Given the description of an element on the screen output the (x, y) to click on. 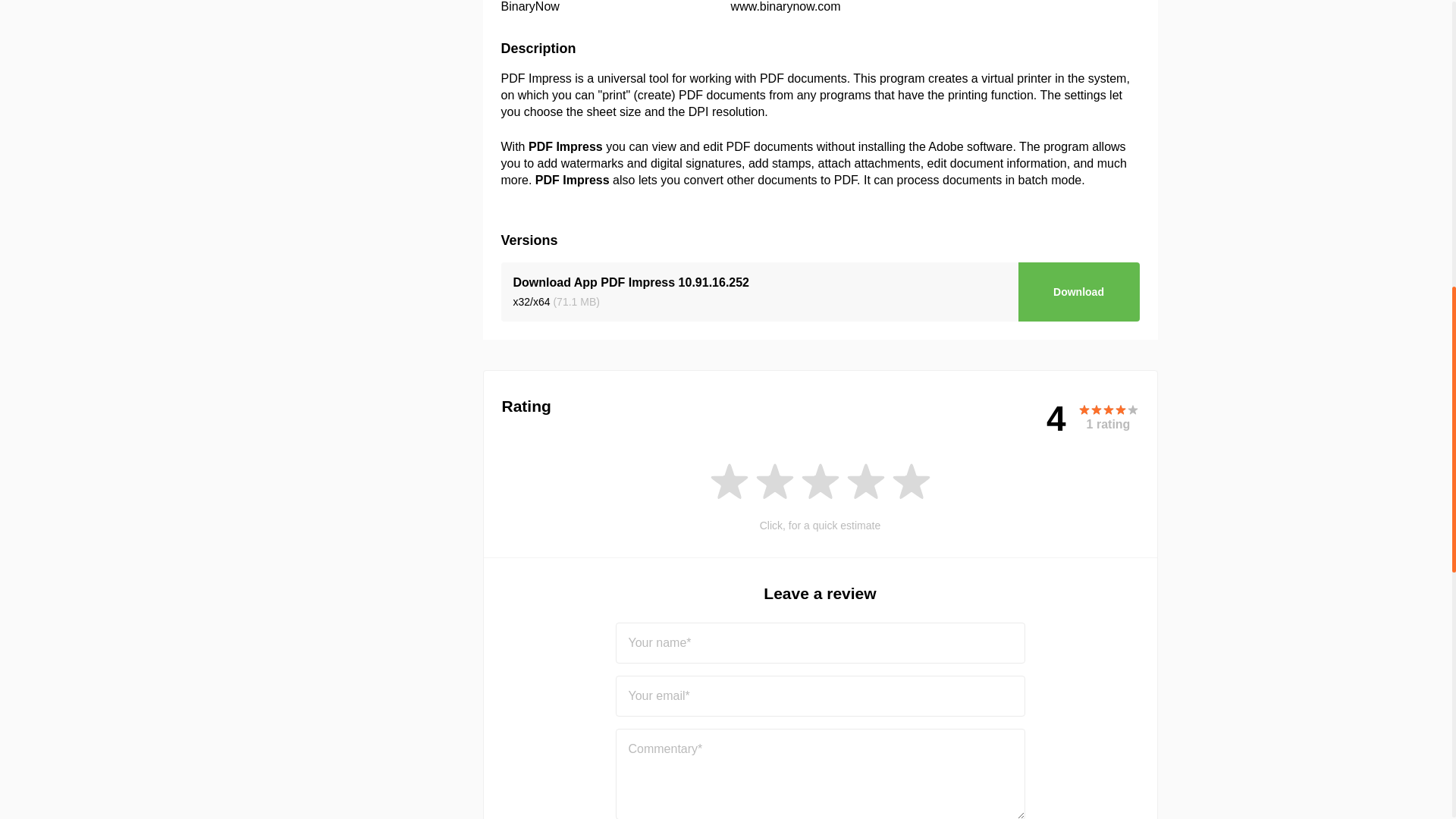
BinaryNow (529, 6)
Download App PDF Impress 10.91.16.252 (630, 282)
Download (1077, 291)
